Given the description of an element on the screen output the (x, y) to click on. 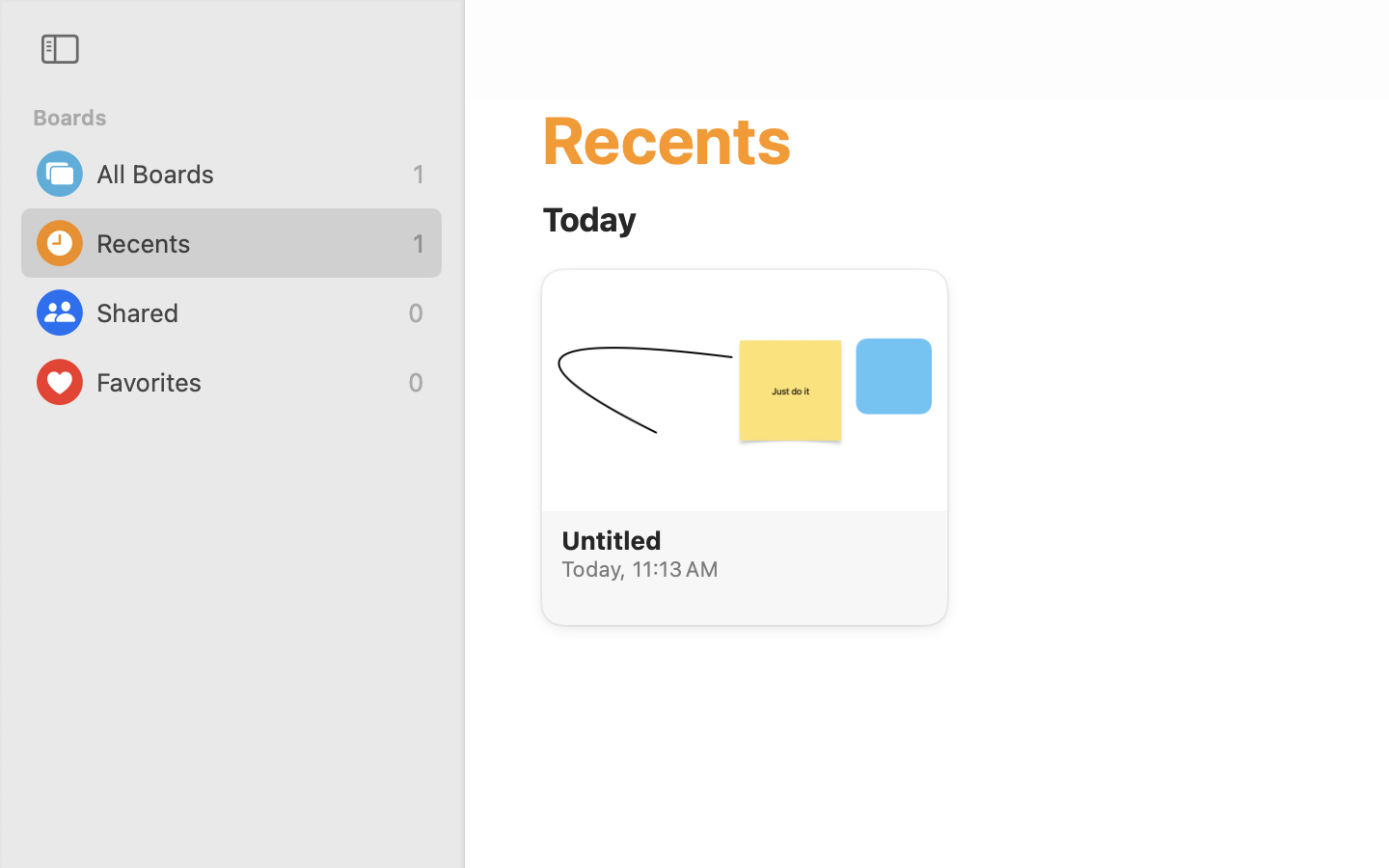
Shared Element type: AXStaticText (246, 312)
All Boards Element type: AXStaticText (249, 173)
Favorites Element type: AXStaticText (246, 381)
